Given the description of an element on the screen output the (x, y) to click on. 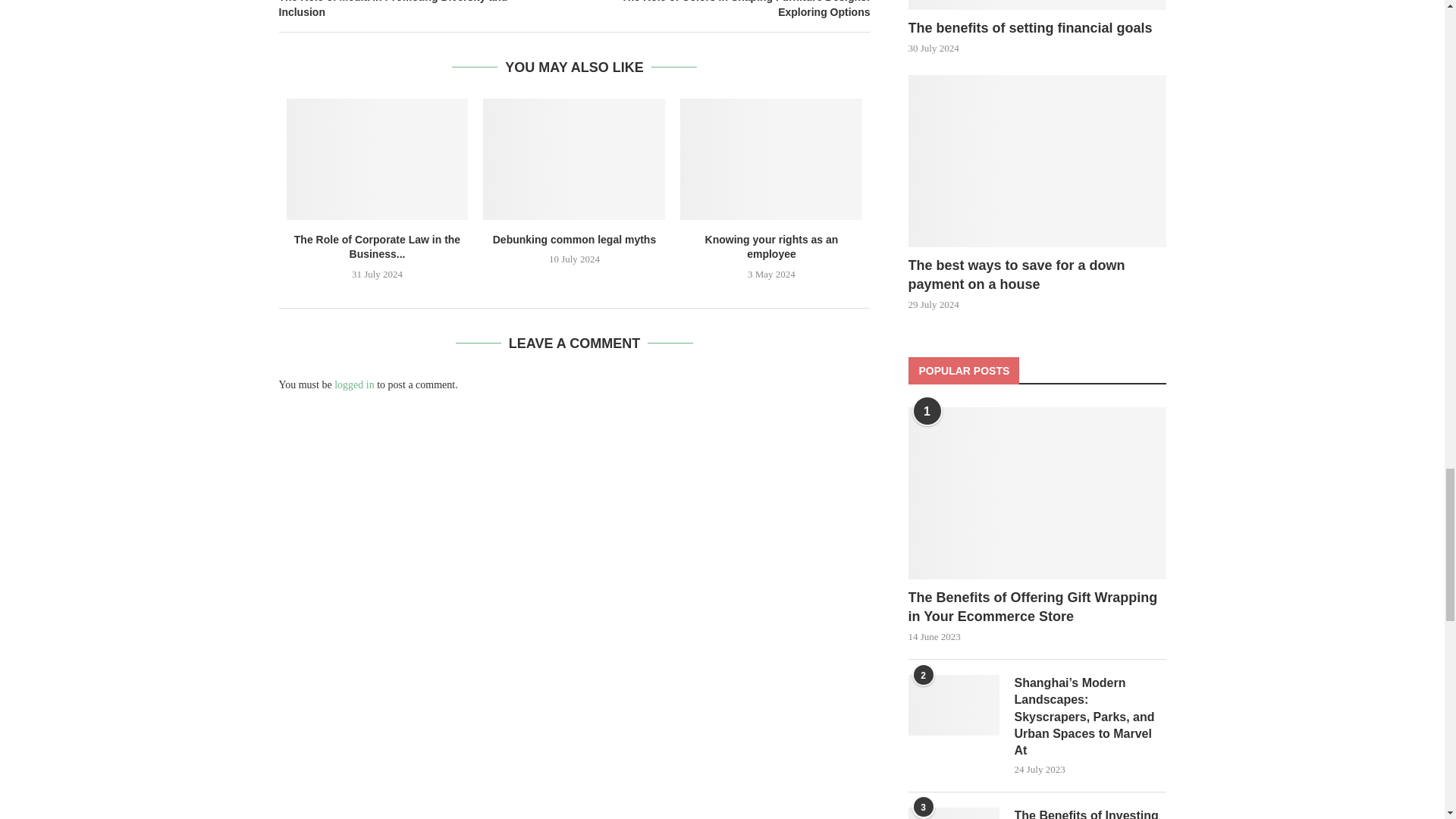
Debunking common legal myths (574, 159)
The Role of Corporate Law in the Business World (377, 159)
Knowing your rights as an employee (770, 159)
